Given the description of an element on the screen output the (x, y) to click on. 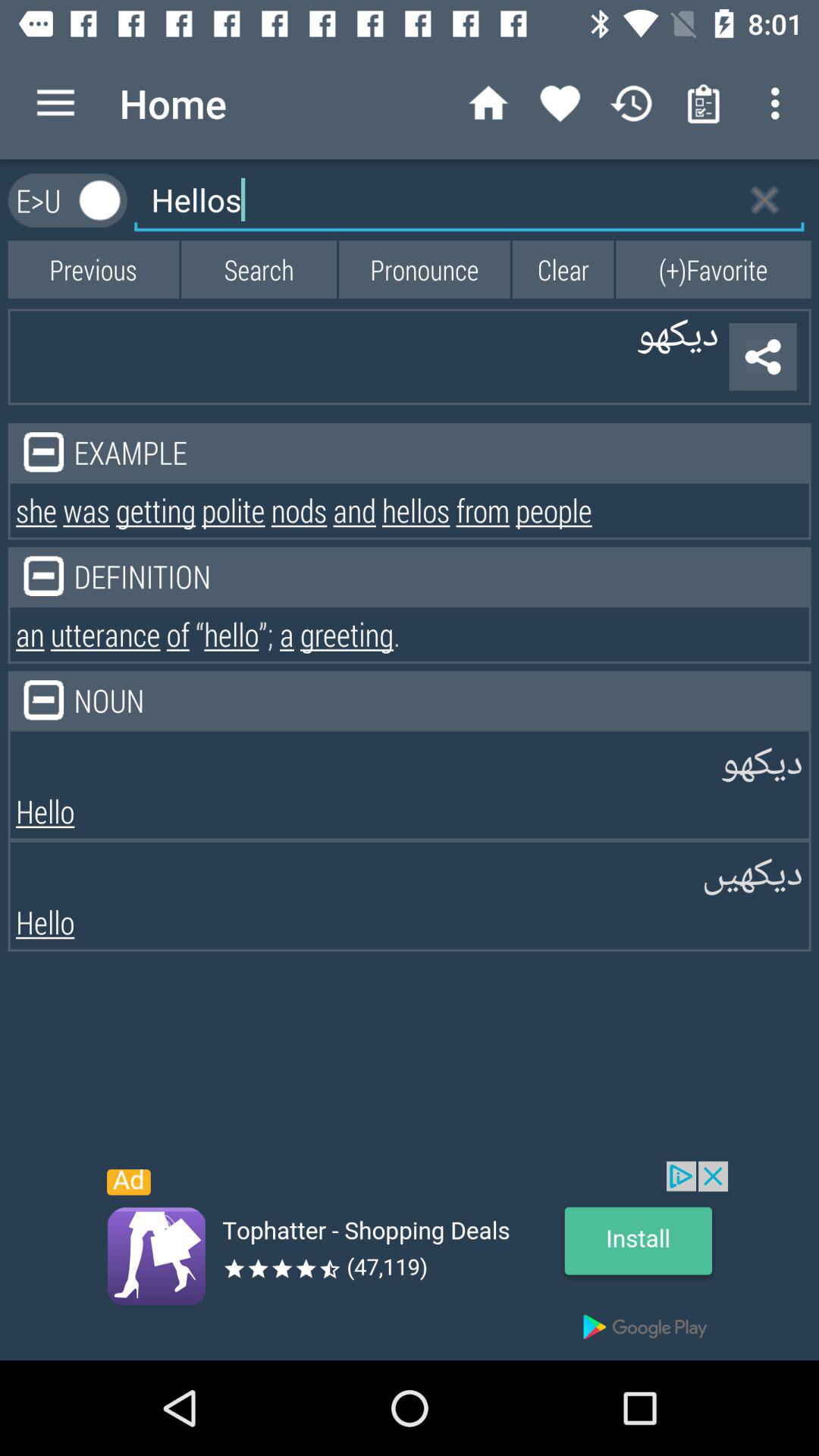
go to advertisement (409, 1260)
